Given the description of an element on the screen output the (x, y) to click on. 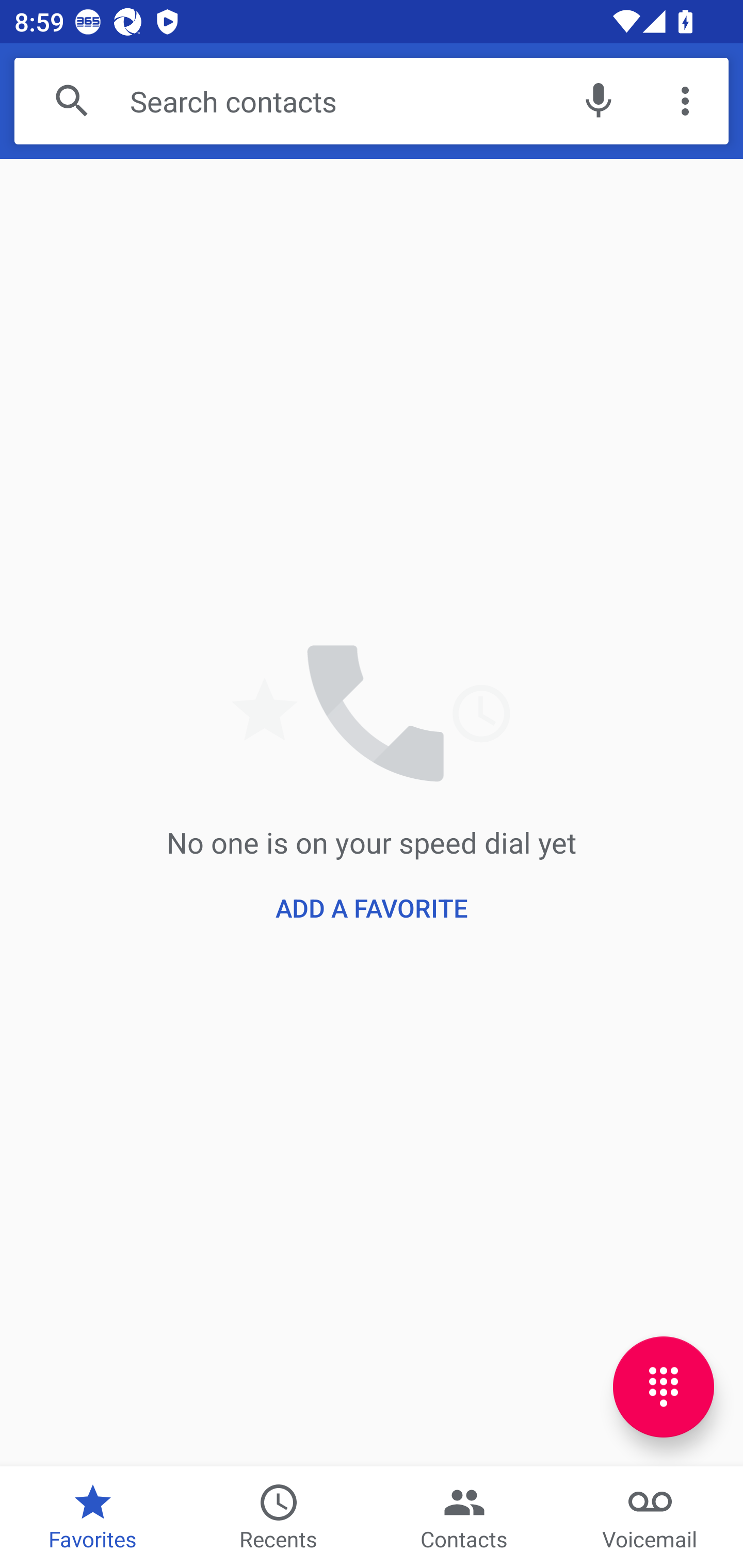
Search contacts Start voice search More options (371, 101)
Start voice search (598, 101)
More options (684, 101)
No one is on your speed dial yet ADD A FAVORITE (371, 812)
ADD A FAVORITE (371, 907)
key pad (663, 1386)
Favorites (92, 1517)
Recents (278, 1517)
Contacts (464, 1517)
Voicemail (650, 1517)
